Given the description of an element on the screen output the (x, y) to click on. 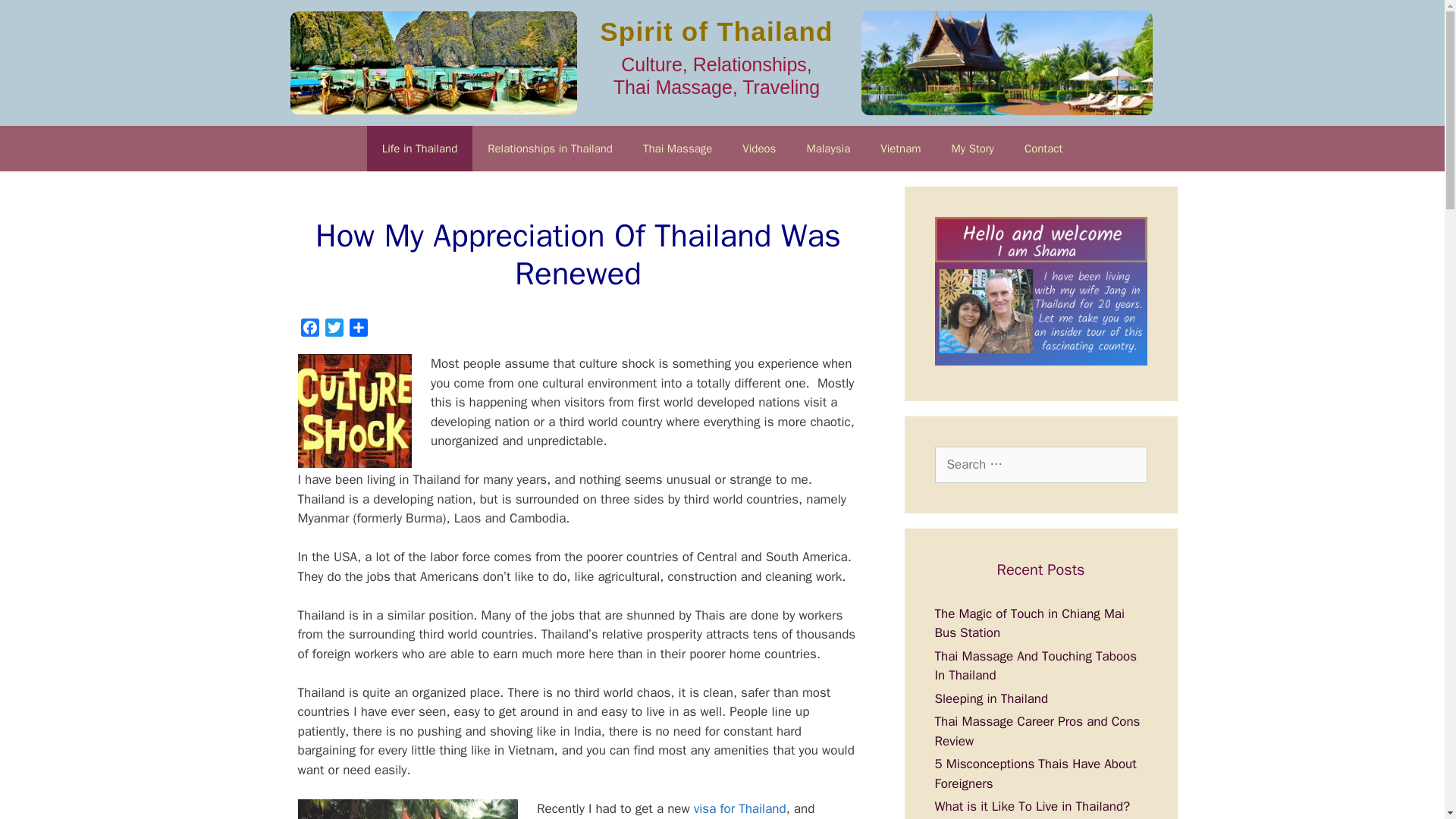
Malaysia (827, 148)
Relationships in Thailand (549, 148)
Thai Massage And Touching Taboos In Thailand (1035, 665)
visa for Thailand (740, 808)
Search (35, 18)
Twitter (333, 330)
My Story (972, 148)
Sleeping in Thailand (991, 698)
What is it Like To Live in Thailand? (1031, 806)
Vietnam (900, 148)
